Given the description of an element on the screen output the (x, y) to click on. 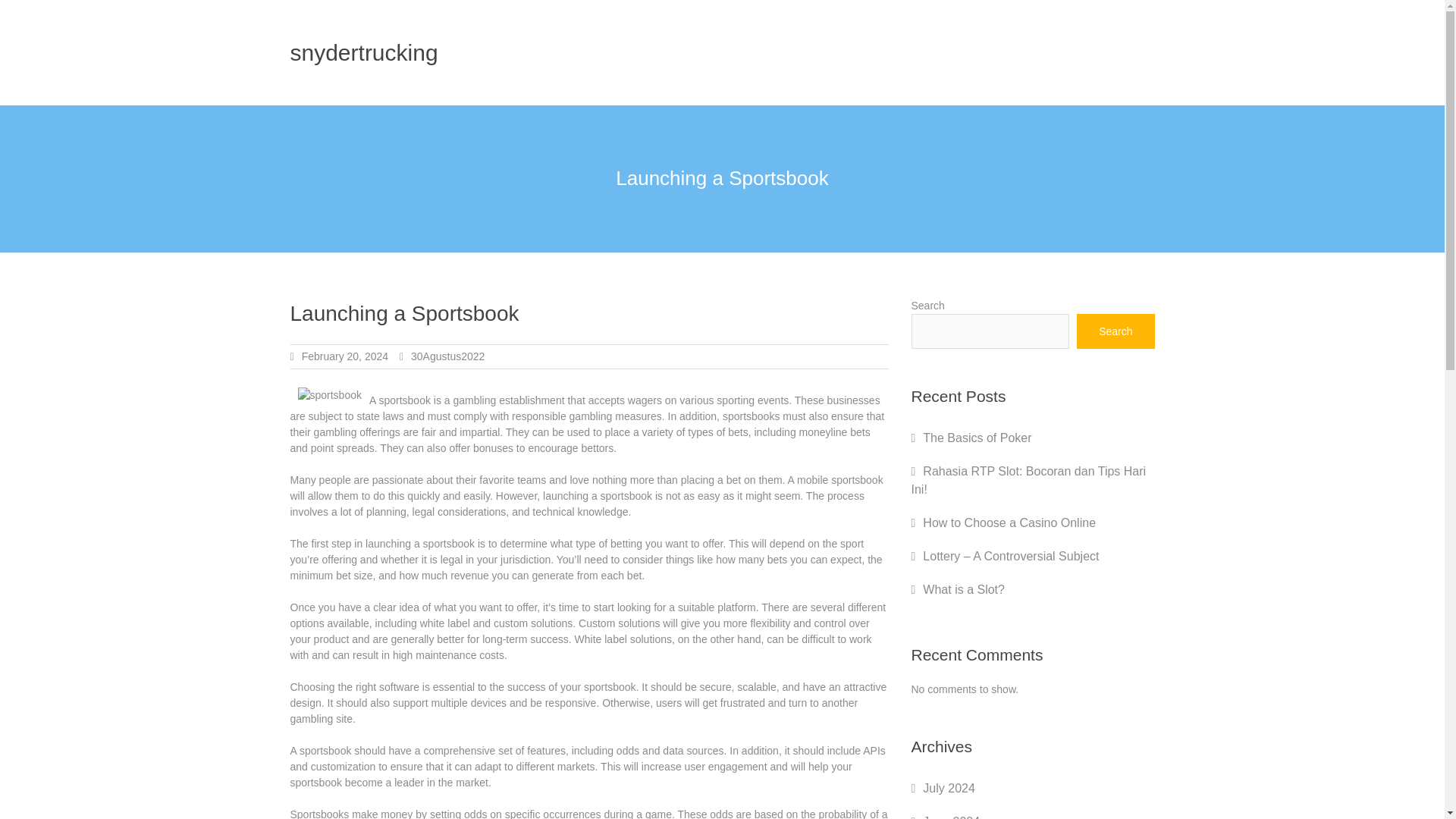
June 2024 (951, 816)
snydertrucking (363, 52)
How to Choose a Casino Online (1009, 522)
February 20, 2024 (344, 356)
What is a Slot? (963, 589)
The Basics of Poker (976, 437)
July 2024 (949, 788)
Rahasia RTP Slot: Bocoran dan Tips Hari Ini! (1029, 480)
Search (1115, 330)
30Agustus2022 (447, 356)
